Given the description of an element on the screen output the (x, y) to click on. 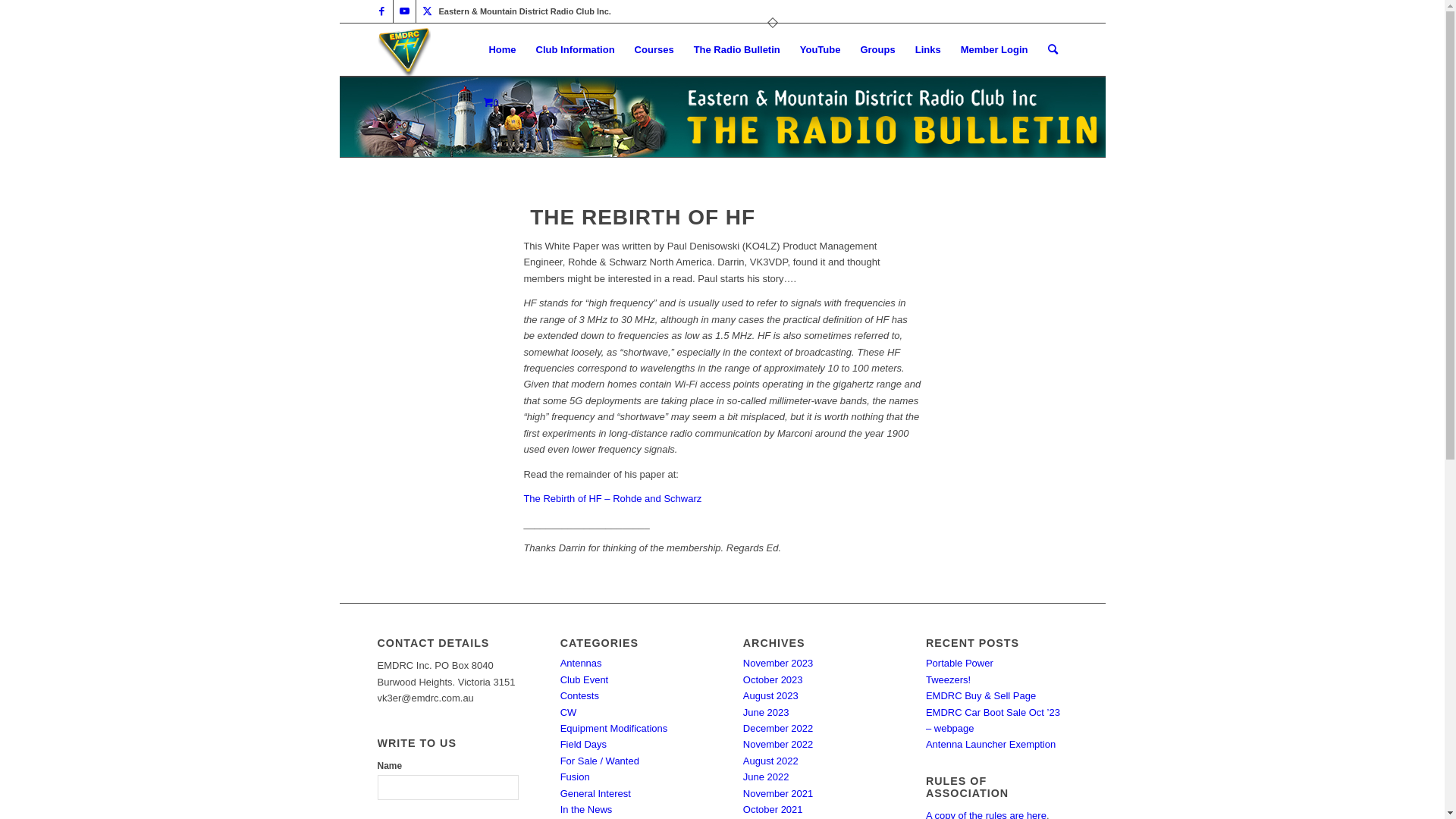
Club Event Element type: text (584, 679)
CW Element type: text (568, 712)
October 2021 Element type: text (773, 809)
December 2022 Element type: text (778, 728)
General Interest Element type: text (595, 793)
Fusion Element type: text (574, 776)
Tweezers! Element type: text (947, 679)
Equipment Modifications Element type: text (614, 728)
EMDRC Buy & Sell Page Element type: text (980, 695)
Twitter Element type: hover (426, 11)
August 2023 Element type: text (770, 695)
Groups Element type: text (877, 49)
June 2022 Element type: text (766, 776)
Links Element type: text (927, 49)
Member Login Element type: text (994, 49)
Field Days Element type: text (583, 743)
Facebook Element type: hover (381, 11)
June 2023 Element type: text (766, 712)
Antenna Launcher Exemption Element type: text (990, 743)
emdrc-final-logo Element type: hover (403, 49)
In the News Element type: text (586, 809)
Courses Element type: text (654, 49)
0 Element type: text (490, 102)
Contests Element type: text (579, 695)
Home Element type: text (501, 49)
Portable Power Element type: text (959, 662)
October 2023 Element type: text (773, 679)
Antennas Element type: text (581, 662)
November 2023 Element type: text (778, 662)
Club Information Element type: text (575, 49)
November 2022 Element type: text (778, 743)
November 2021 Element type: text (778, 793)
YouTube Element type: text (820, 49)
August 2022 Element type: text (770, 760)
The Radio Bulletin Element type: text (737, 49)
Youtube Element type: hover (403, 11)
For Sale / Wanted Element type: text (599, 760)
